Given the description of an element on the screen output the (x, y) to click on. 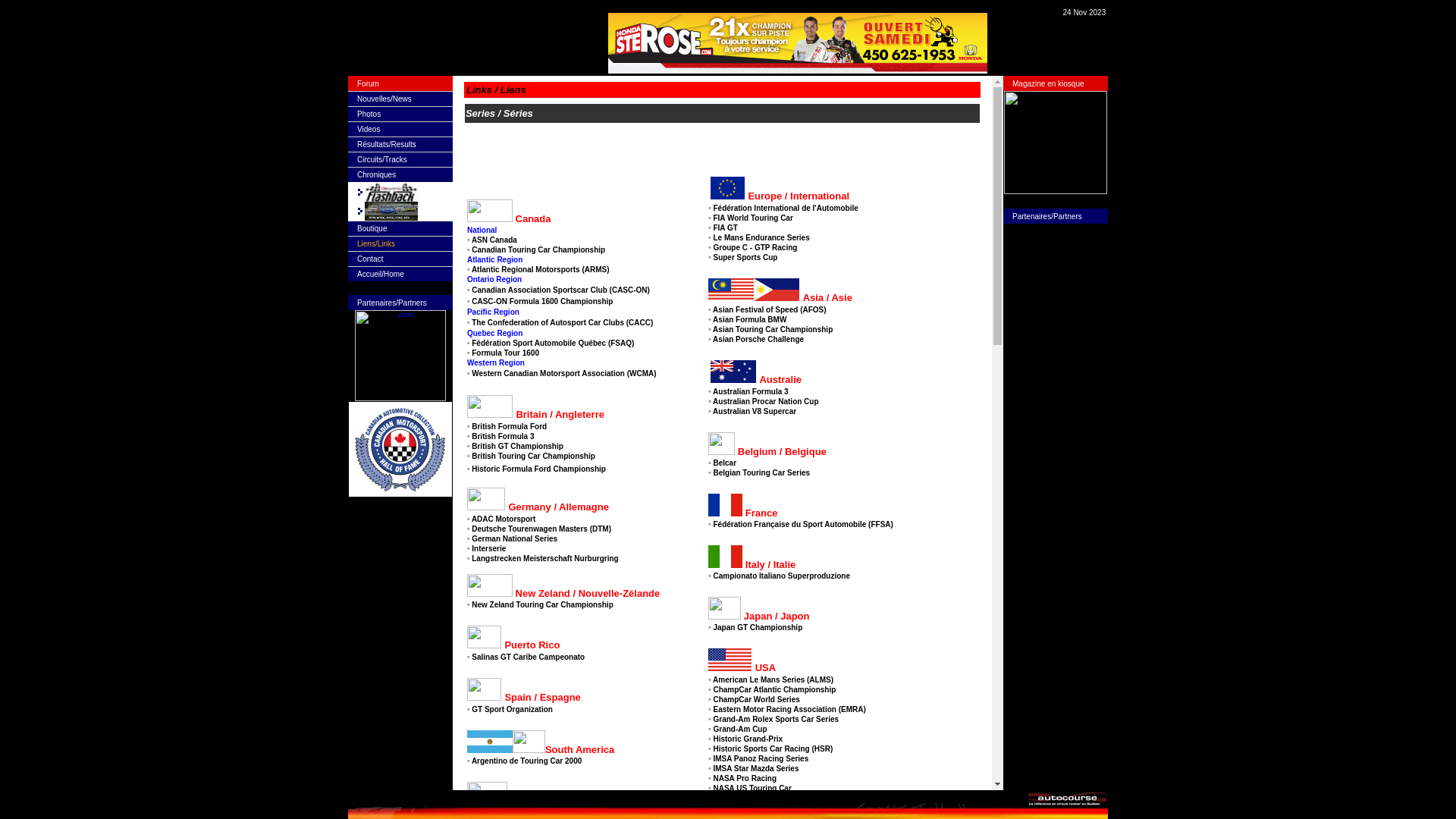
Contact Element type: text (369, 258)
Forum Element type: text (368, 82)
Photos Element type: text (368, 113)
Nouvelles/News Element type: text (384, 98)
  Element type: text (467, 37)
Circuits/Tracks Element type: text (382, 159)
Boutique Element type: text (371, 228)
Liens/Links Element type: text (376, 243)
Videos Element type: text (368, 129)
Accueil/Home Element type: text (380, 273)
